Given the description of an element on the screen output the (x, y) to click on. 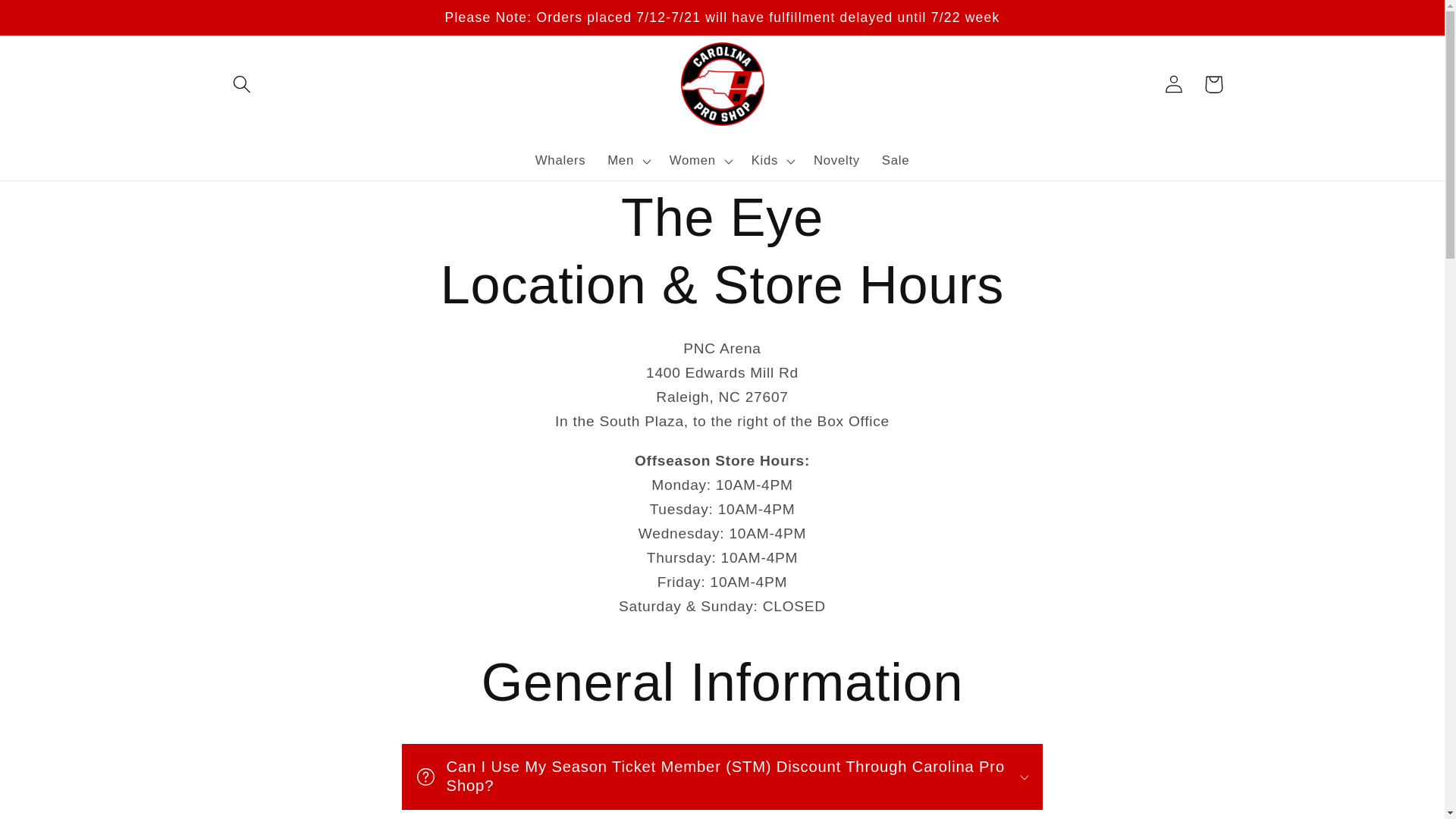
Whalers (559, 161)
Skip to content (53, 20)
